Given the description of an element on the screen output the (x, y) to click on. 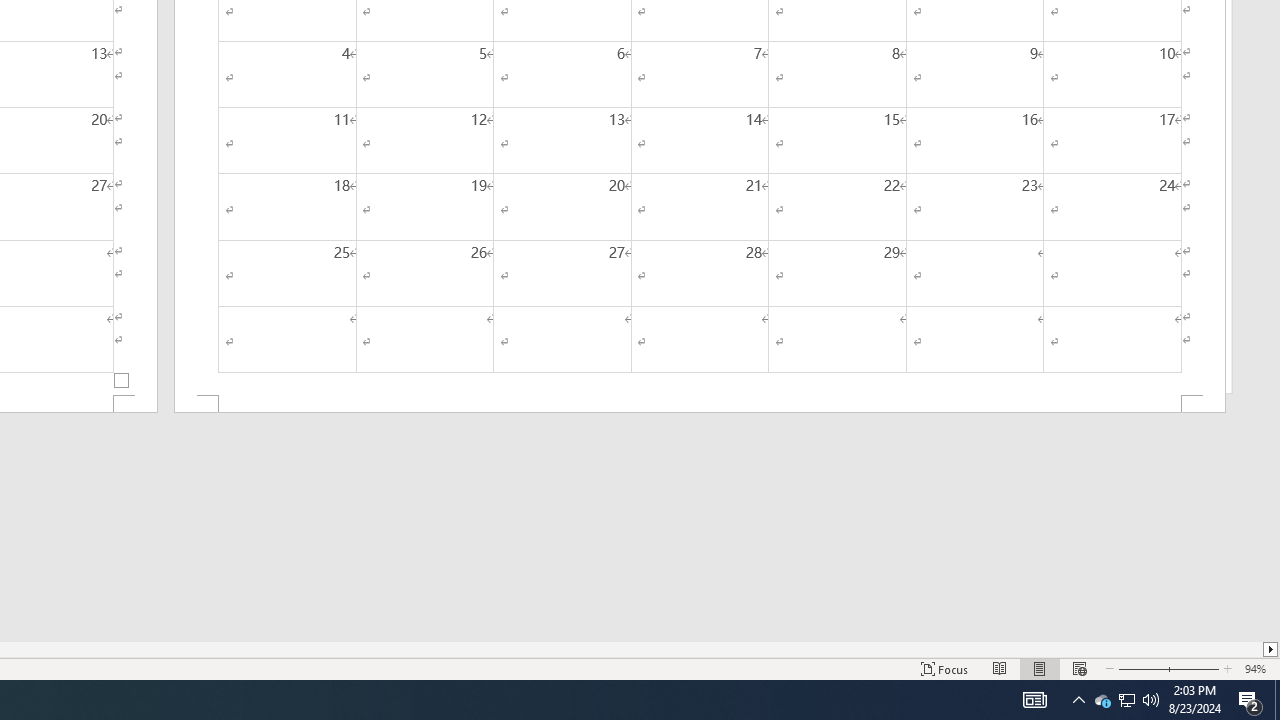
Footer -Section 2- (700, 404)
Column right (1271, 649)
